Given the description of an element on the screen output the (x, y) to click on. 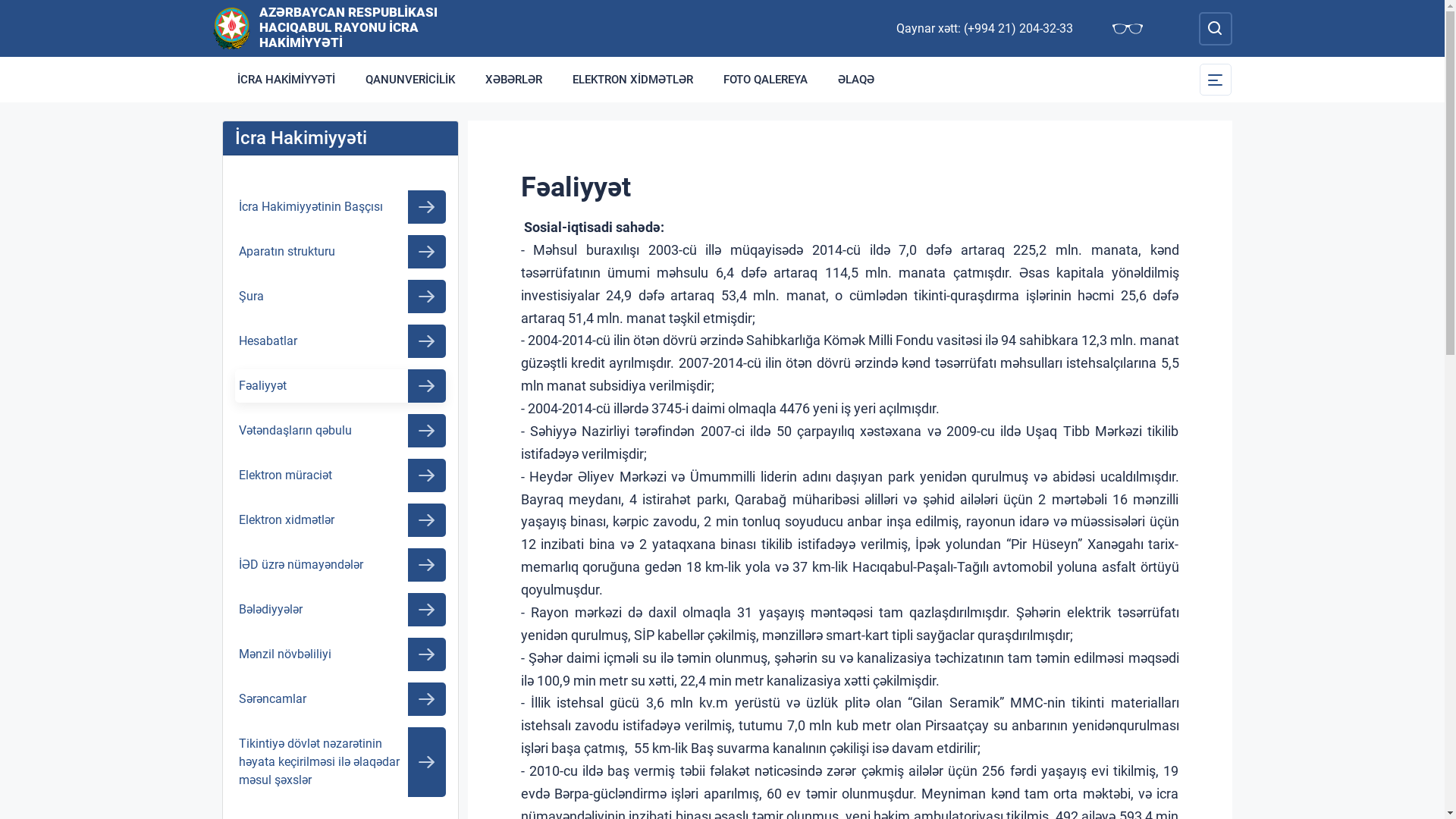
Hesabatlar Element type: text (340, 340)
FOTO QALEREYA Element type: text (765, 79)
QANUNVERICILIK Element type: text (410, 79)
